Given the description of an element on the screen output the (x, y) to click on. 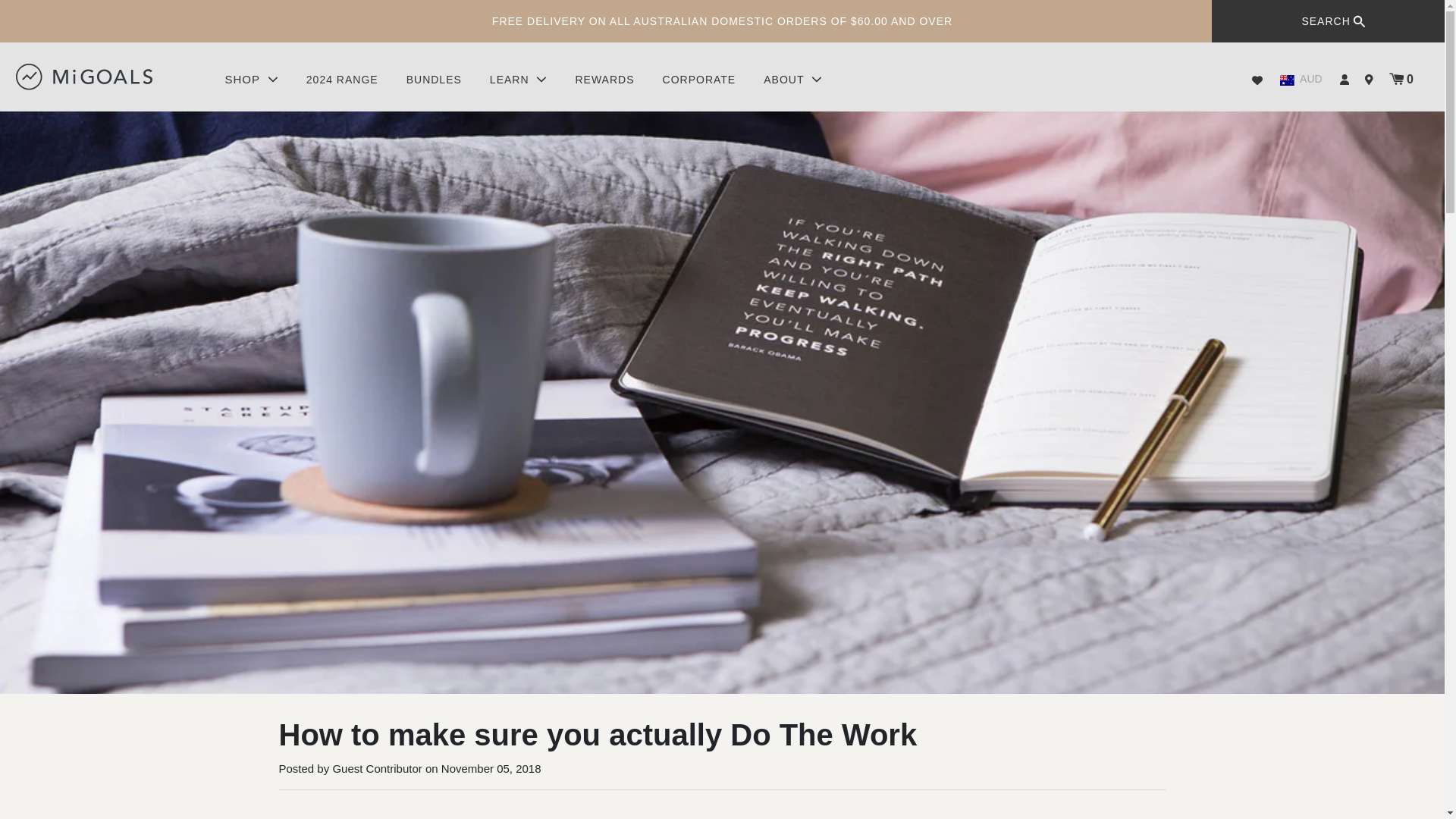
CORPORATE (699, 79)
AUD (1300, 79)
BUNDLES (434, 79)
SHOP (250, 79)
LEARN (518, 79)
ABOUT (792, 79)
2024 RANGE (342, 79)
REWARDS (604, 79)
